Given the description of an element on the screen output the (x, y) to click on. 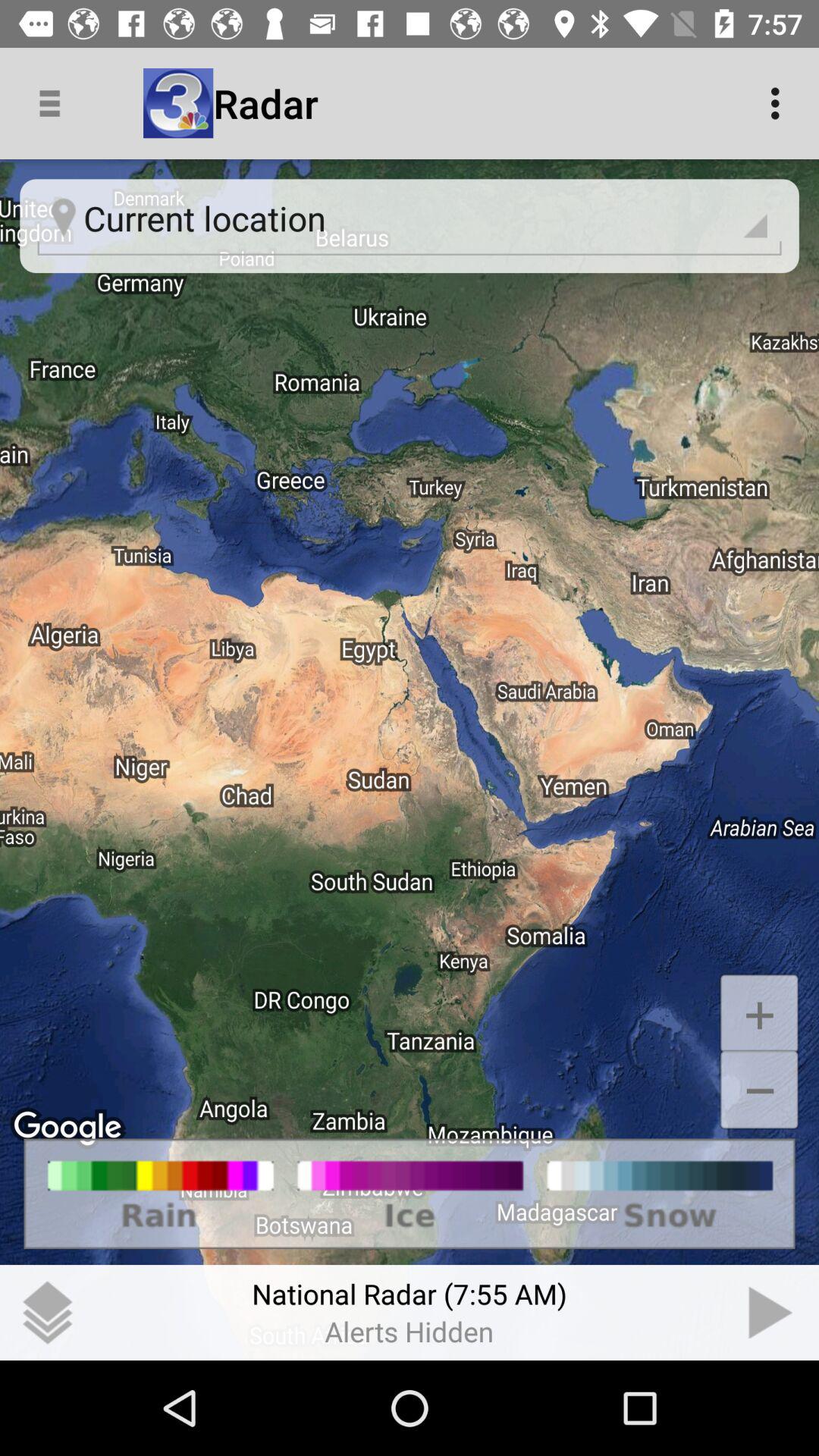
select icon at the center (409, 759)
